Given the description of an element on the screen output the (x, y) to click on. 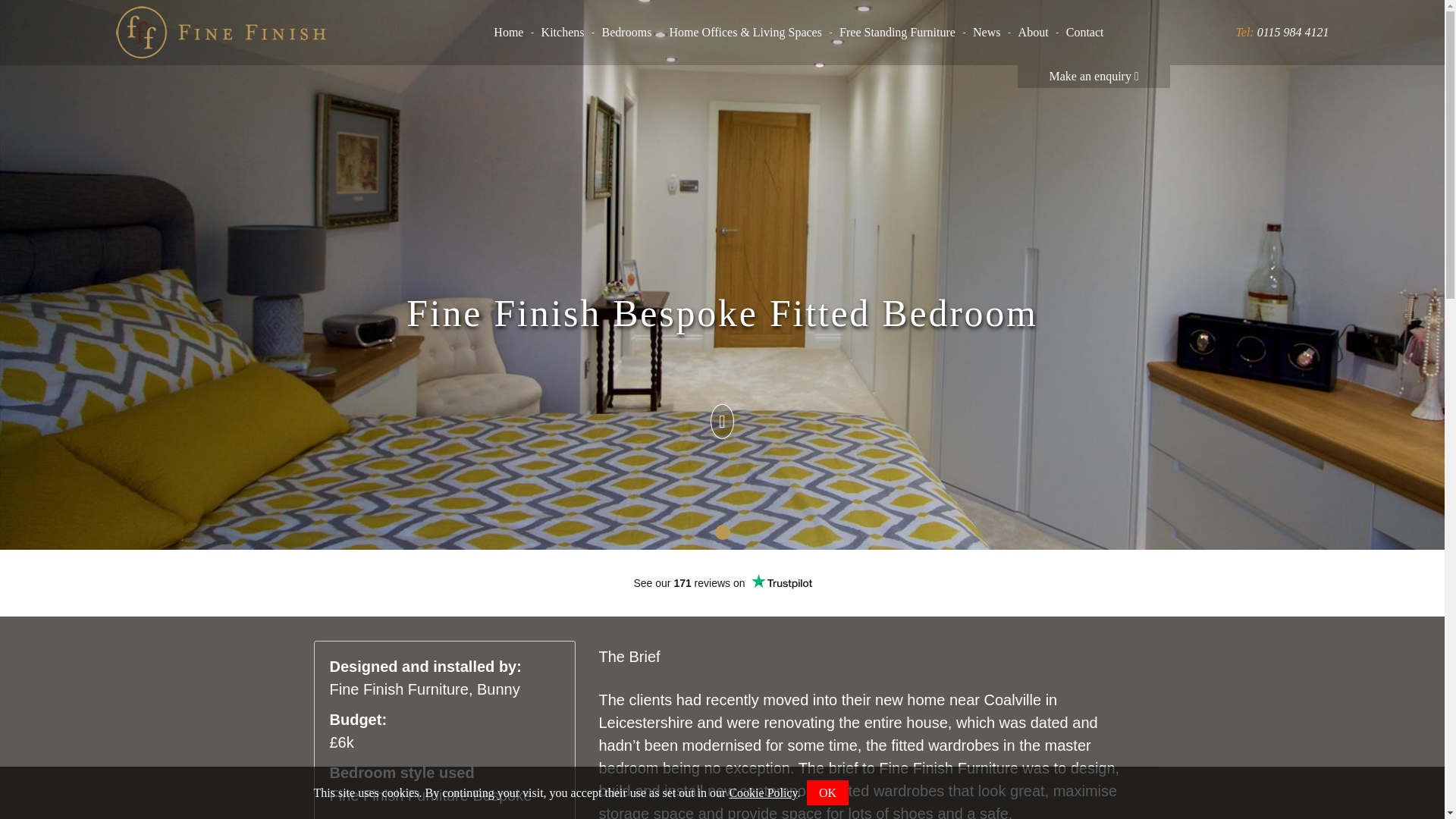
About (1033, 32)
Customer reviews powered by Trustpilot (722, 583)
Contact (1085, 32)
Kitchens (562, 32)
Cookie Policy (762, 792)
News (986, 32)
Free Standing Furniture (897, 32)
Home (508, 32)
Bedrooms (626, 32)
Make an enquiry (1093, 76)
